Given the description of an element on the screen output the (x, y) to click on. 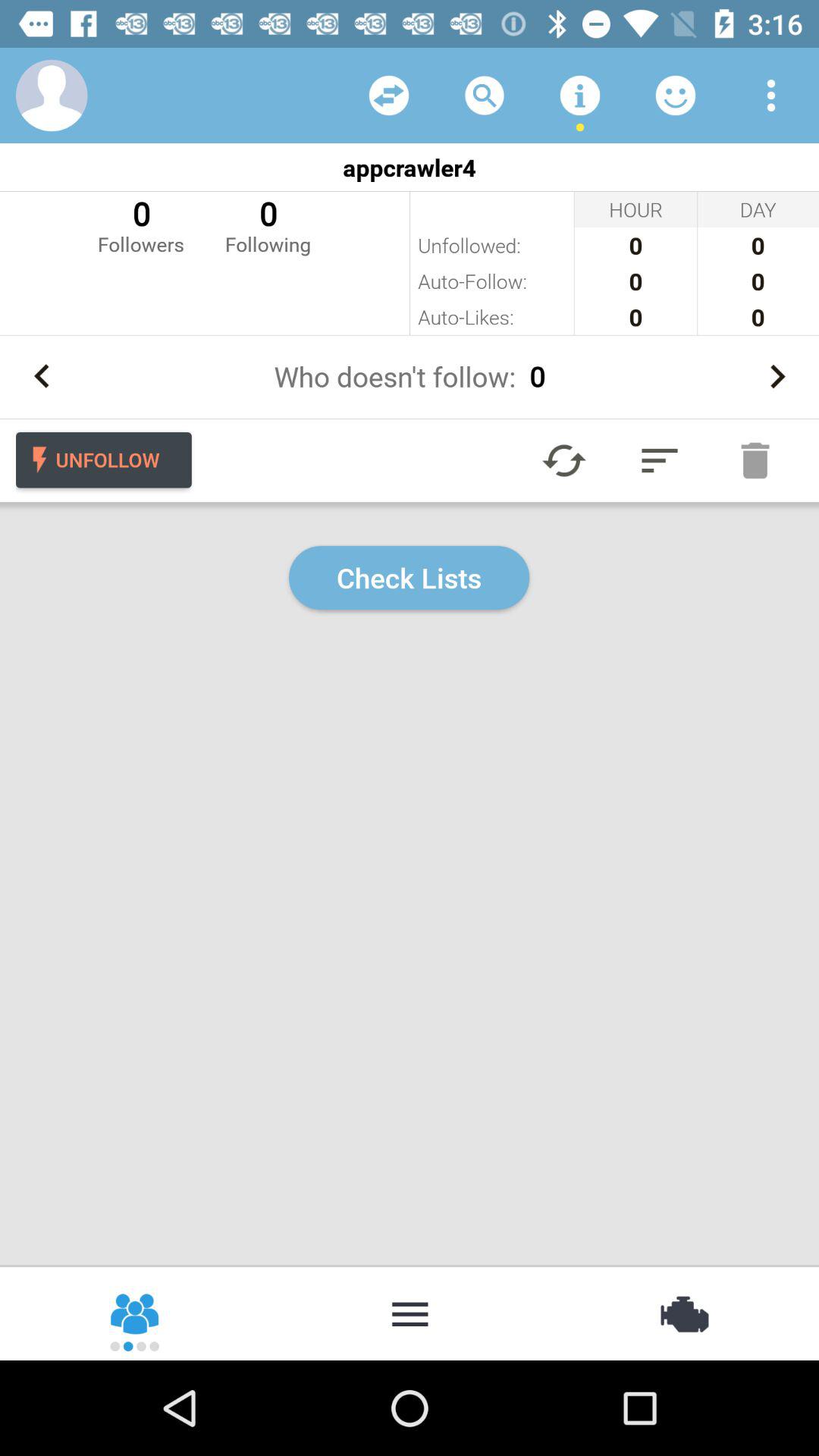
go back (41, 376)
